Given the description of an element on the screen output the (x, y) to click on. 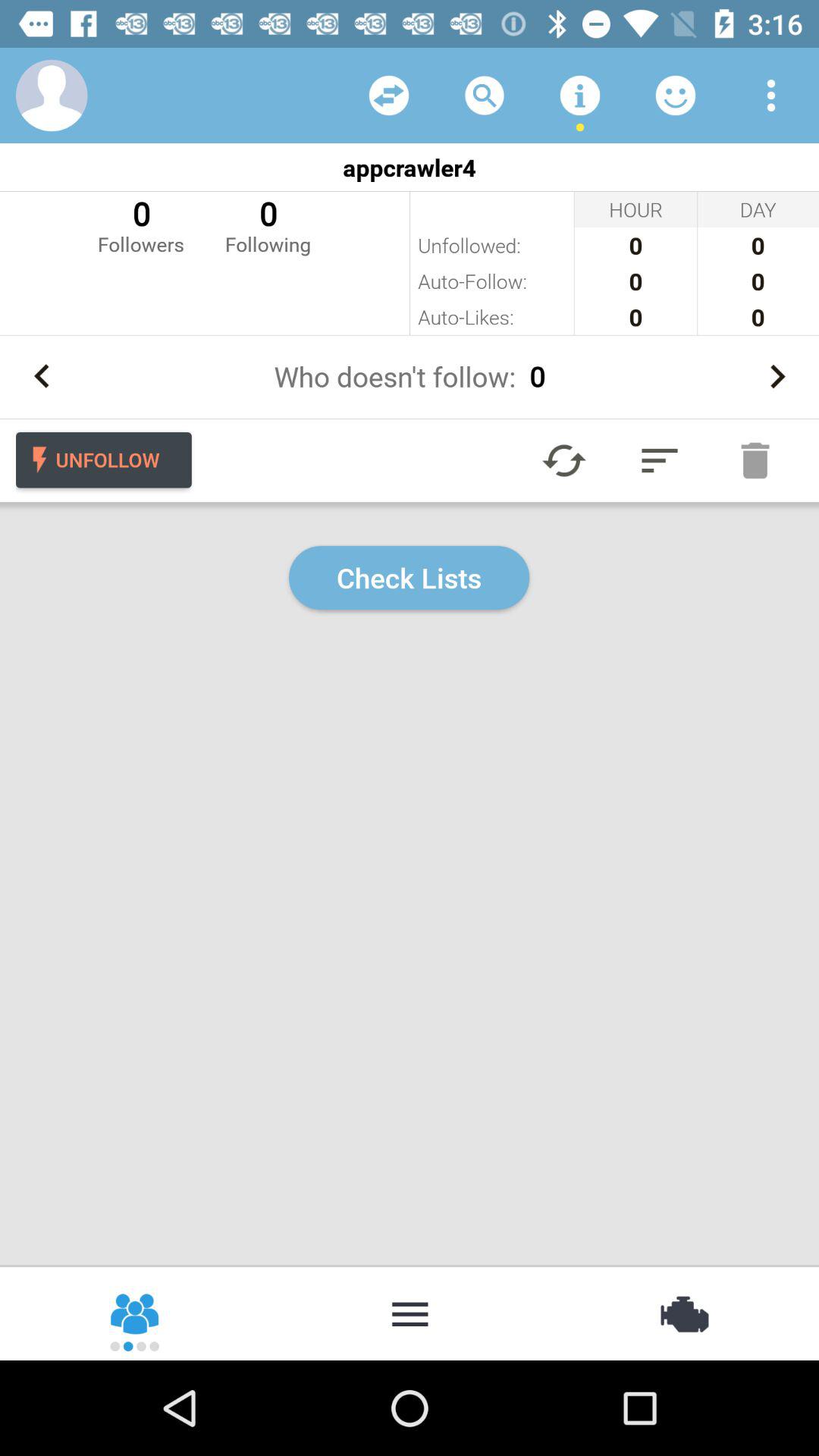
go back (41, 376)
